Given the description of an element on the screen output the (x, y) to click on. 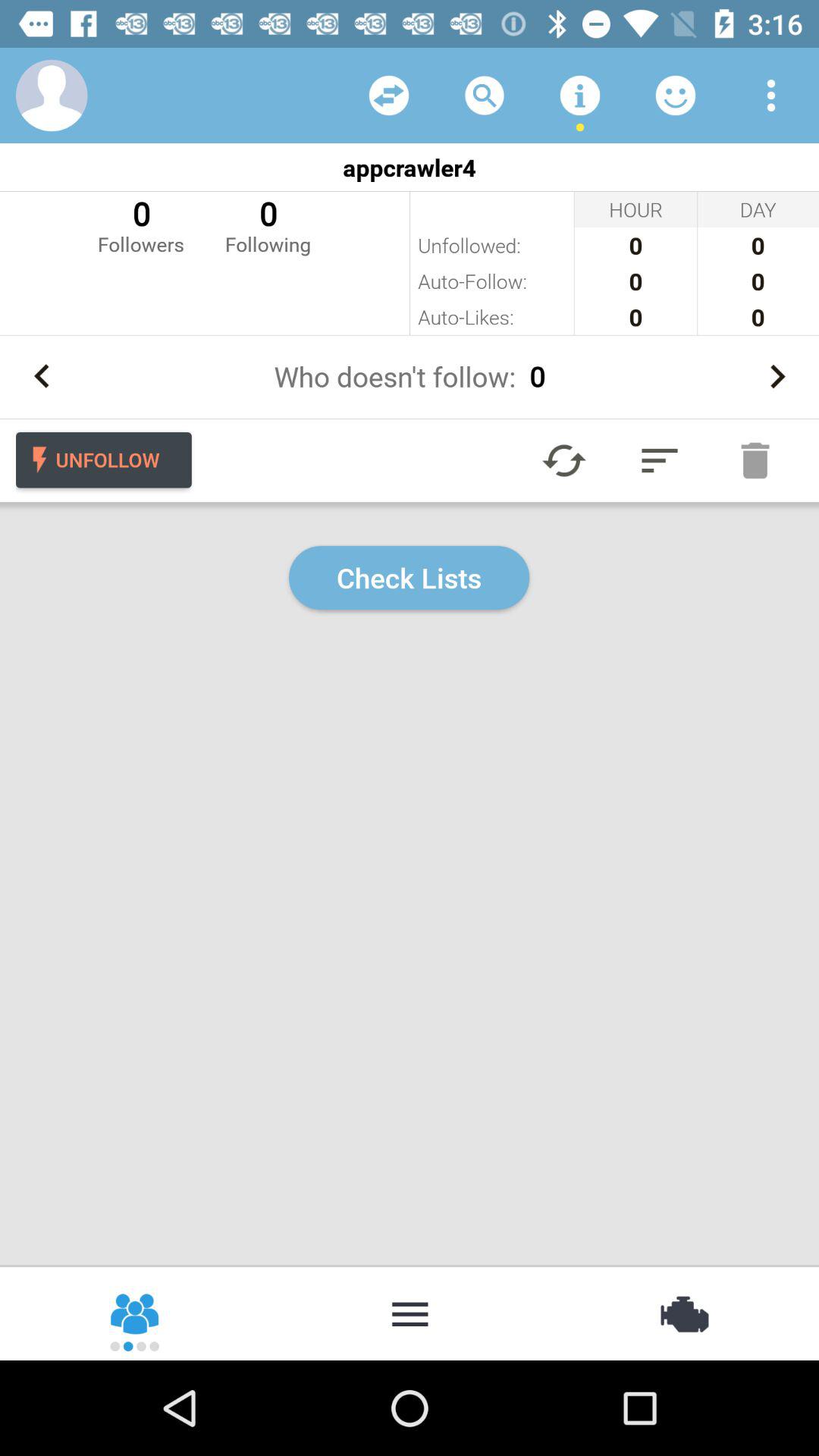
go back (41, 376)
